Given the description of an element on the screen output the (x, y) to click on. 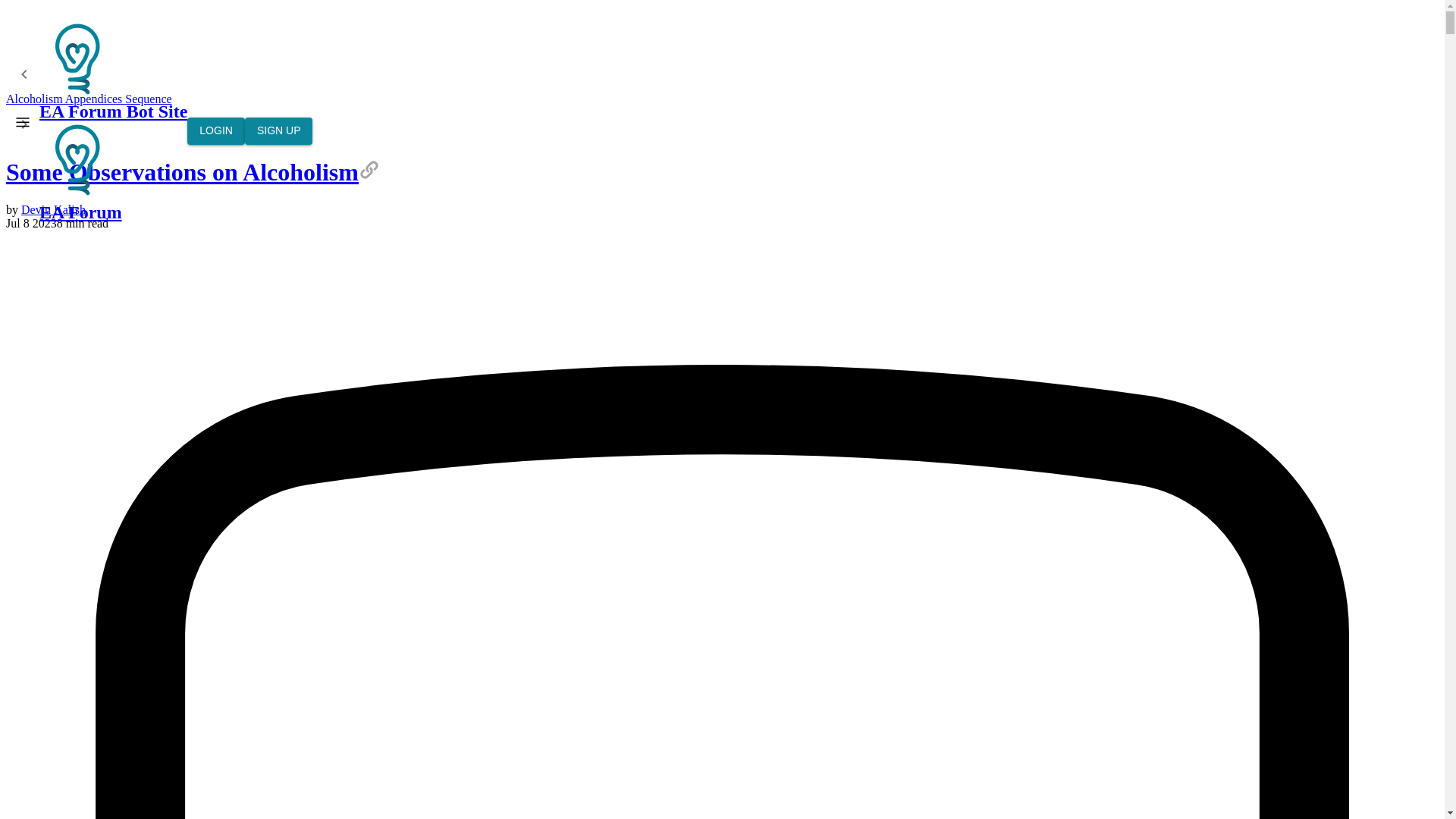
EA Forum Bot Site (77, 160)
EA Forum (113, 171)
SIGN UP (278, 130)
EA Forum Bot Site (113, 71)
Some Observations on Alcoholism (192, 171)
Alcoholism Appendices Sequence (88, 98)
EA Forum Bot Site (77, 59)
LOGIN (215, 130)
Devin Kalish (53, 209)
Introductions, and the Appendix with the Personal Stuff (23, 123)
